Given the description of an element on the screen output the (x, y) to click on. 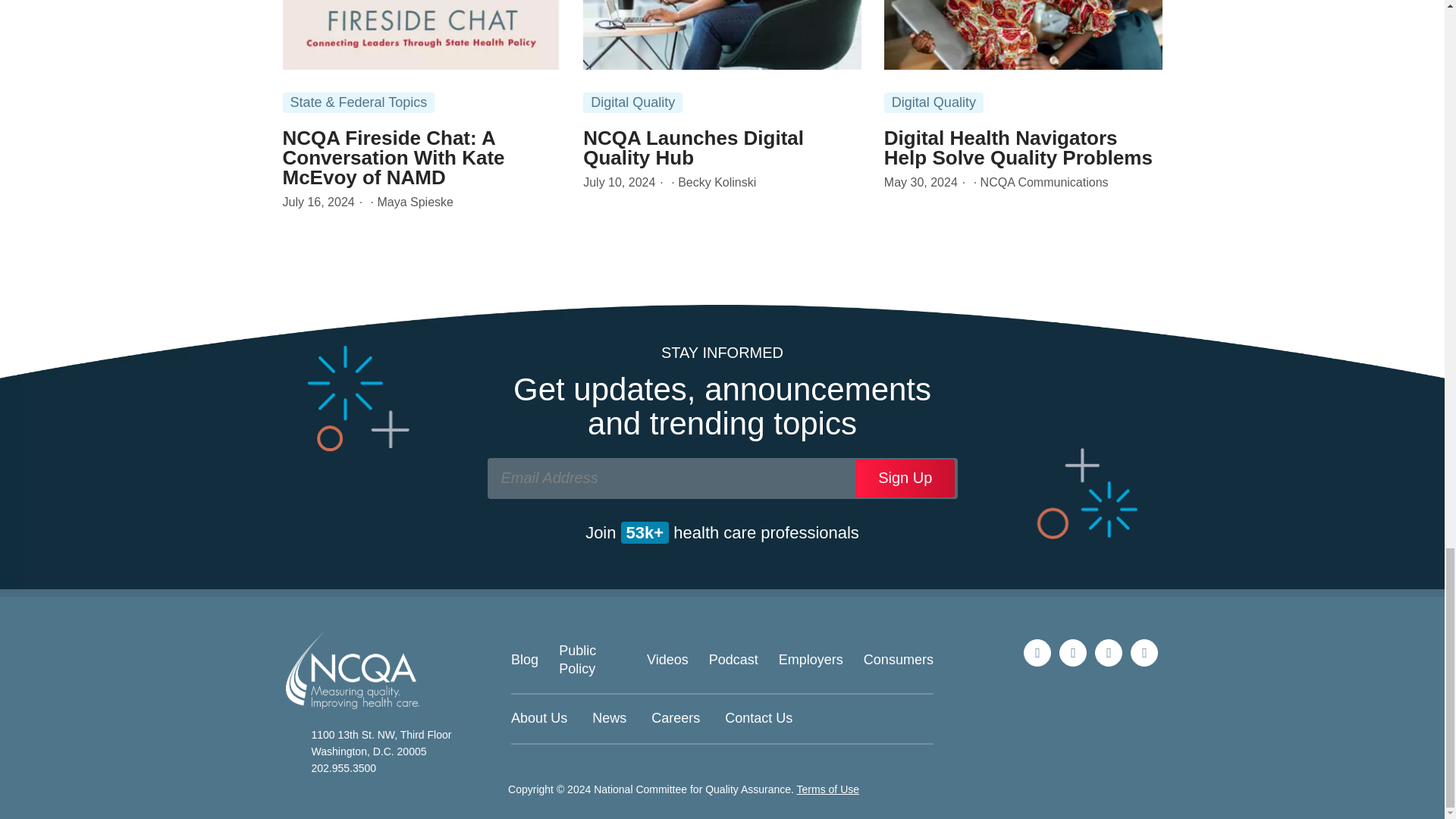
Join us on Facebook (1108, 652)
Sign Up (905, 478)
Watch us on YouTube (1144, 652)
Follow us on X (1037, 652)
Join us on Linkedin (1072, 652)
